Given the description of an element on the screen output the (x, y) to click on. 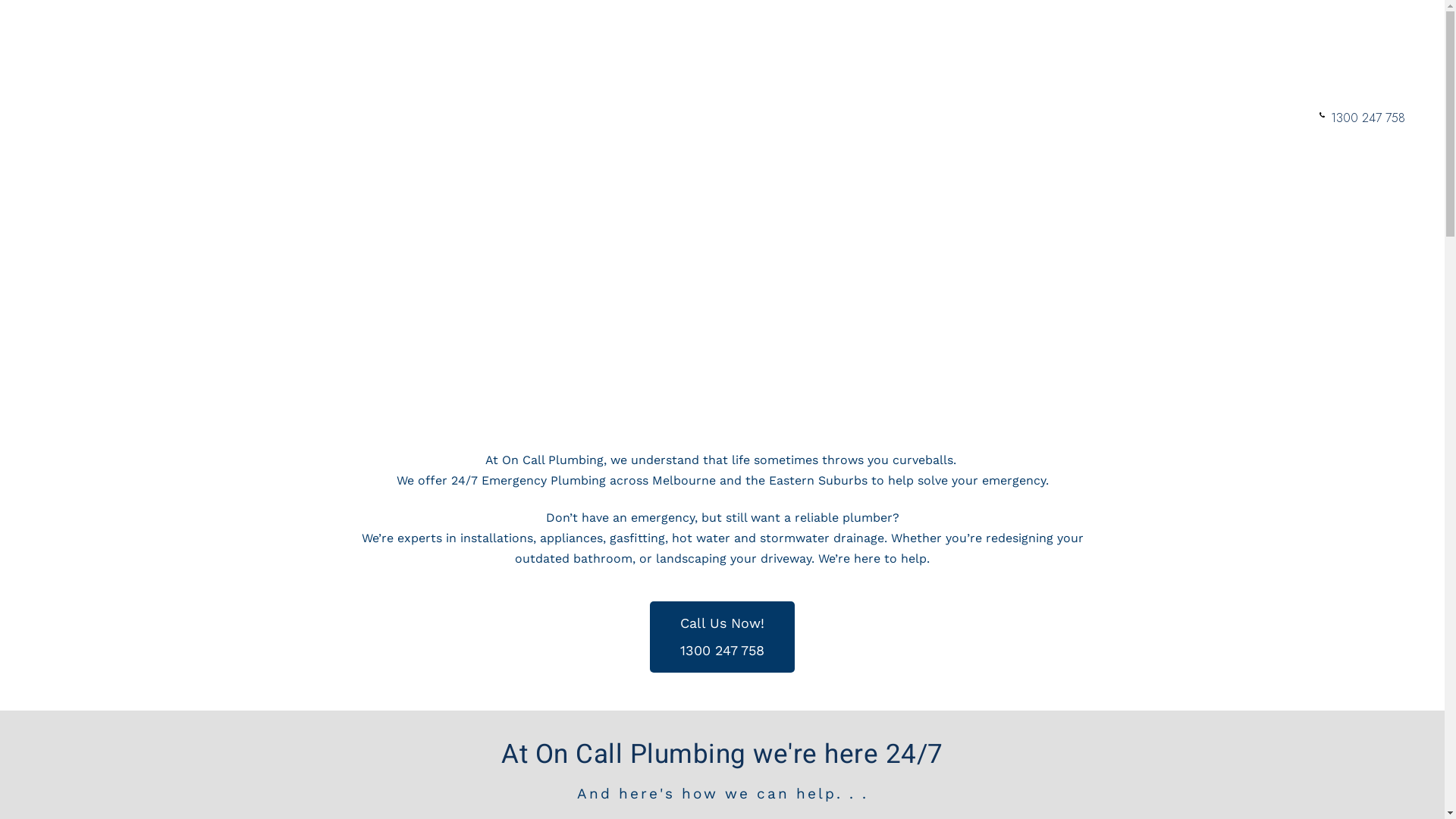
1300 247 758 Element type: text (1367, 117)
Call Us Now!

1300 247 758 Element type: text (721, 636)
